Given the description of an element on the screen output the (x, y) to click on. 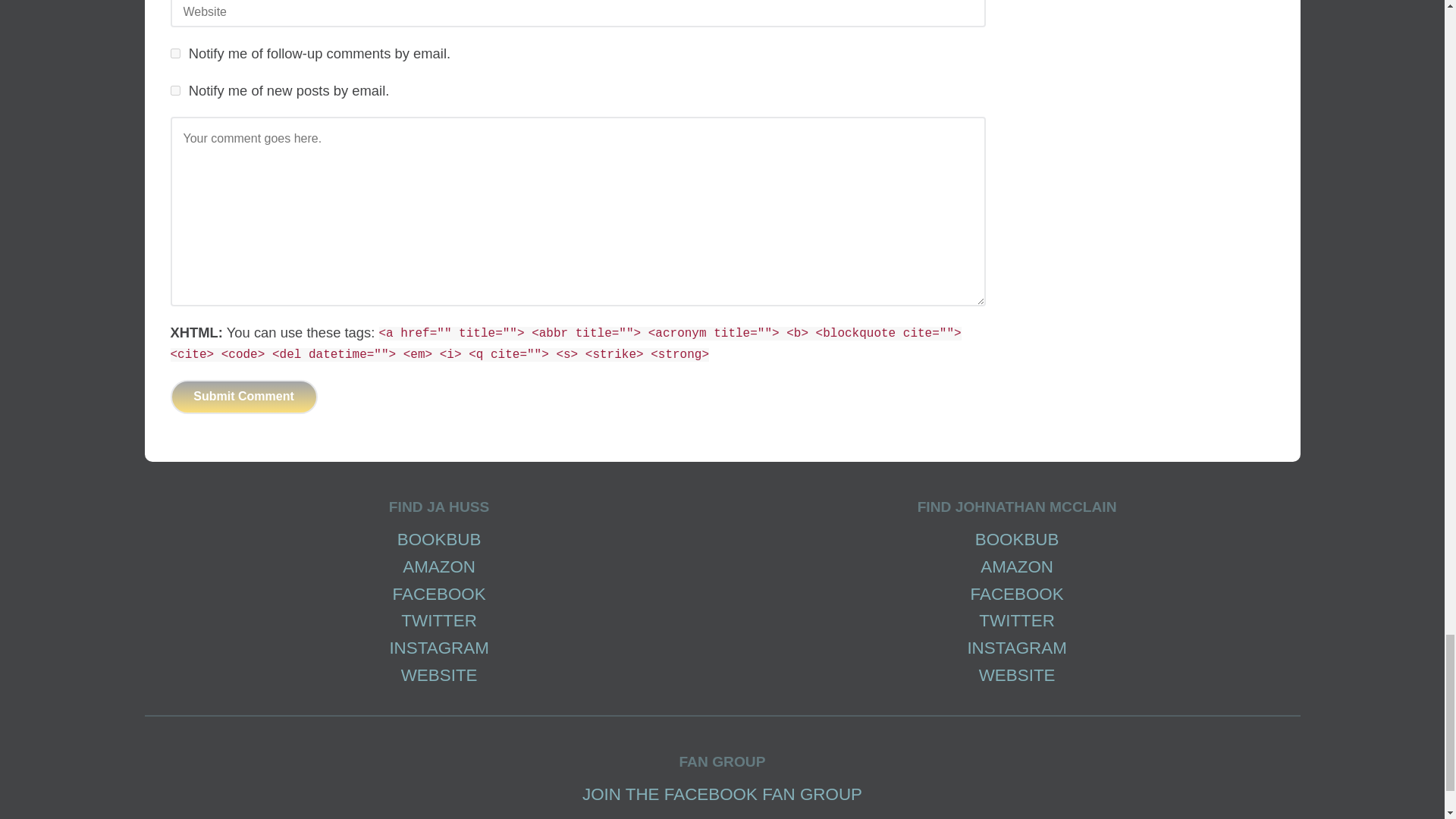
Submit Comment (243, 397)
subscribe (174, 90)
subscribe (174, 53)
